Given the description of an element on the screen output the (x, y) to click on. 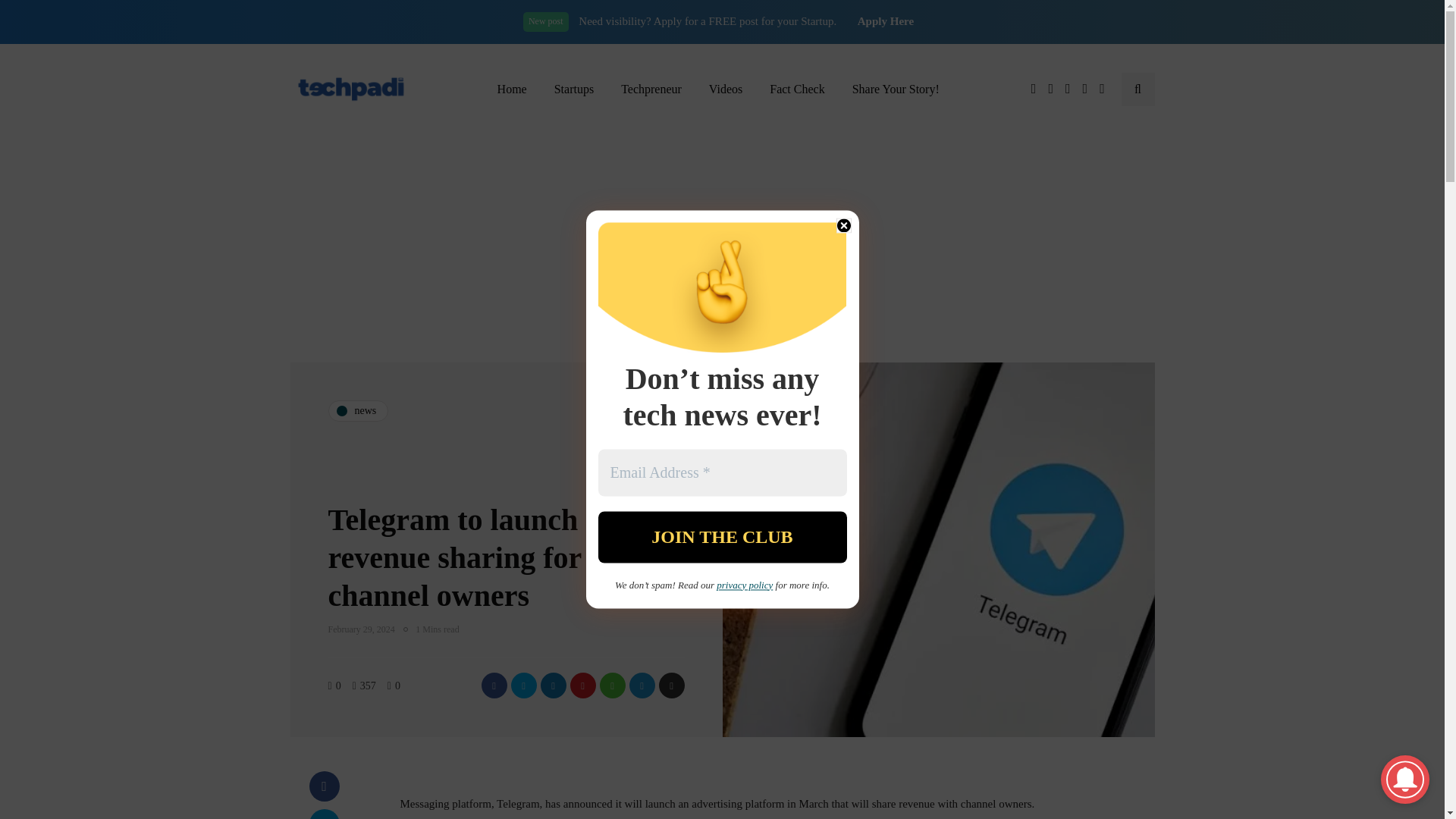
Share by Email (671, 685)
Tweet this (524, 685)
Tweet this (323, 814)
Pin this (582, 685)
Share to WhatsApp (611, 685)
0 (338, 685)
Startups (573, 89)
Fact Check (796, 89)
news (357, 410)
Share with Facebook (493, 685)
Techpreneur (651, 89)
Share with Facebook (323, 786)
Home (511, 89)
Apply Here (885, 21)
